Given the description of an element on the screen output the (x, y) to click on. 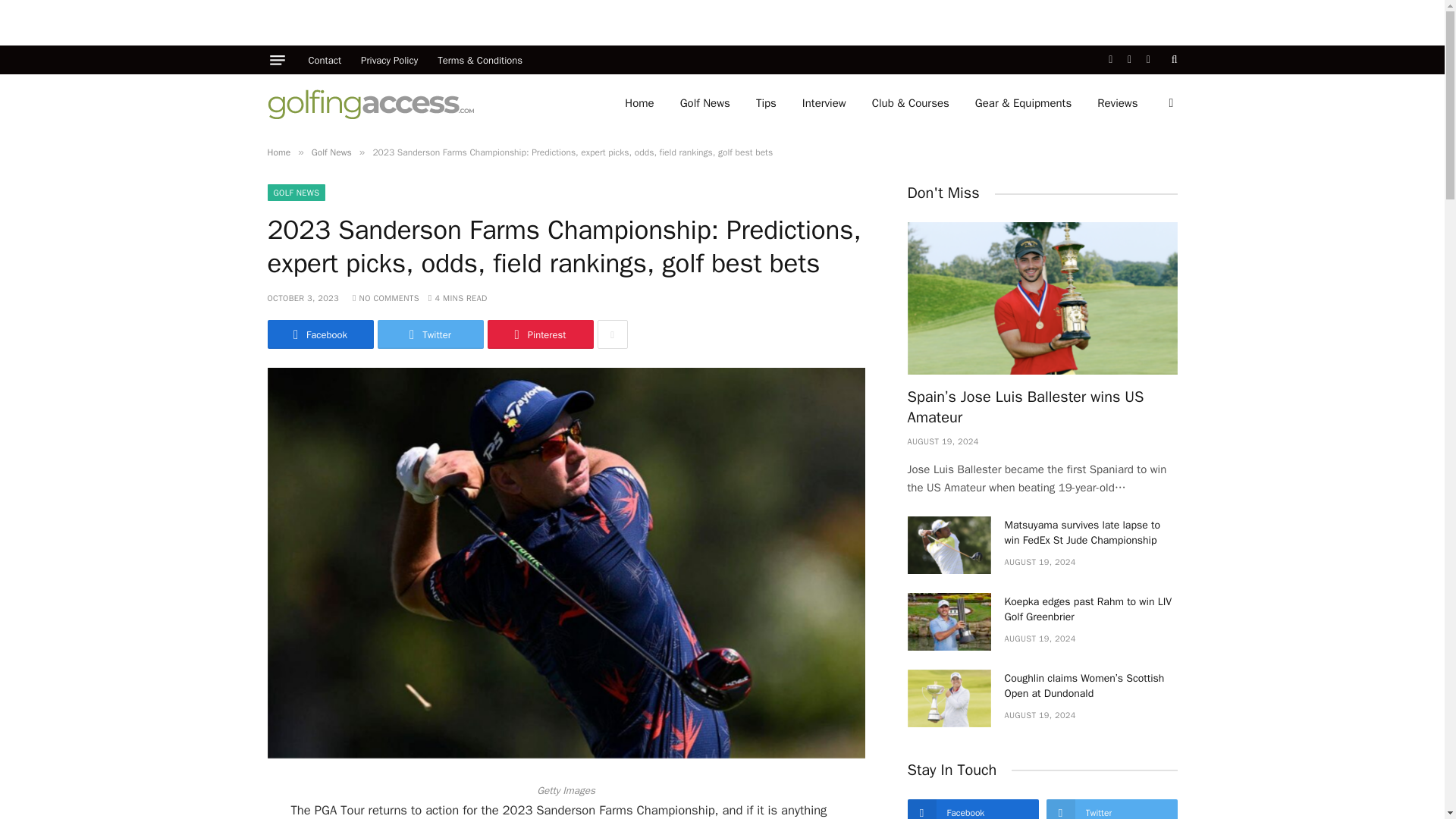
Privacy Policy (389, 59)
Home (638, 102)
Share on Pinterest (539, 334)
Interview (824, 102)
Reviews (1117, 102)
Golf News (704, 102)
Contact (325, 59)
Share on Facebook (319, 334)
Switch to Dark Design - easier on eyes. (1168, 102)
Golfing Access (369, 102)
